Given the description of an element on the screen output the (x, y) to click on. 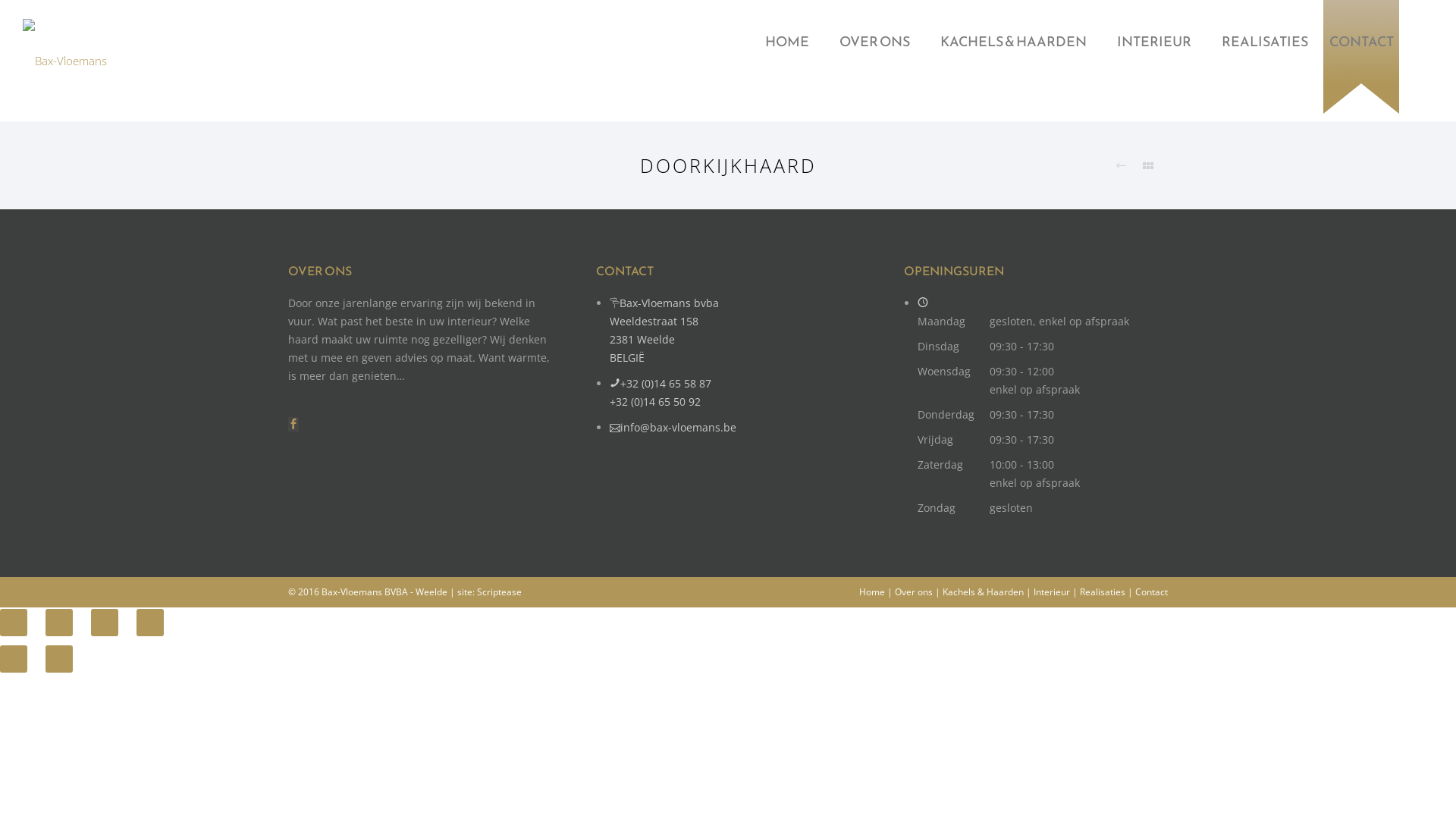
HOME Element type: text (786, 41)
Next (arrow right) Element type: hover (58, 658)
Close (Esc) Element type: hover (13, 622)
INTERIEUR Element type: text (1153, 41)
Interieur Element type: text (1051, 591)
Zoom in/out Element type: hover (149, 622)
Contact Element type: text (1151, 591)
CONTACT Element type: text (1360, 41)
Previous (arrow left) Element type: hover (13, 658)
Toggle fullscreen Element type: hover (104, 622)
Share Element type: hover (58, 622)
Realisaties Element type: text (1102, 591)
REALISATIES Element type: text (1264, 41)
OVER ONS Element type: text (874, 41)
Over ons Element type: text (913, 591)
Kachels & Haarden Element type: text (982, 591)
KACHELS & HAARDEN Element type: text (1013, 41)
Home Element type: text (871, 591)
